Given the description of an element on the screen output the (x, y) to click on. 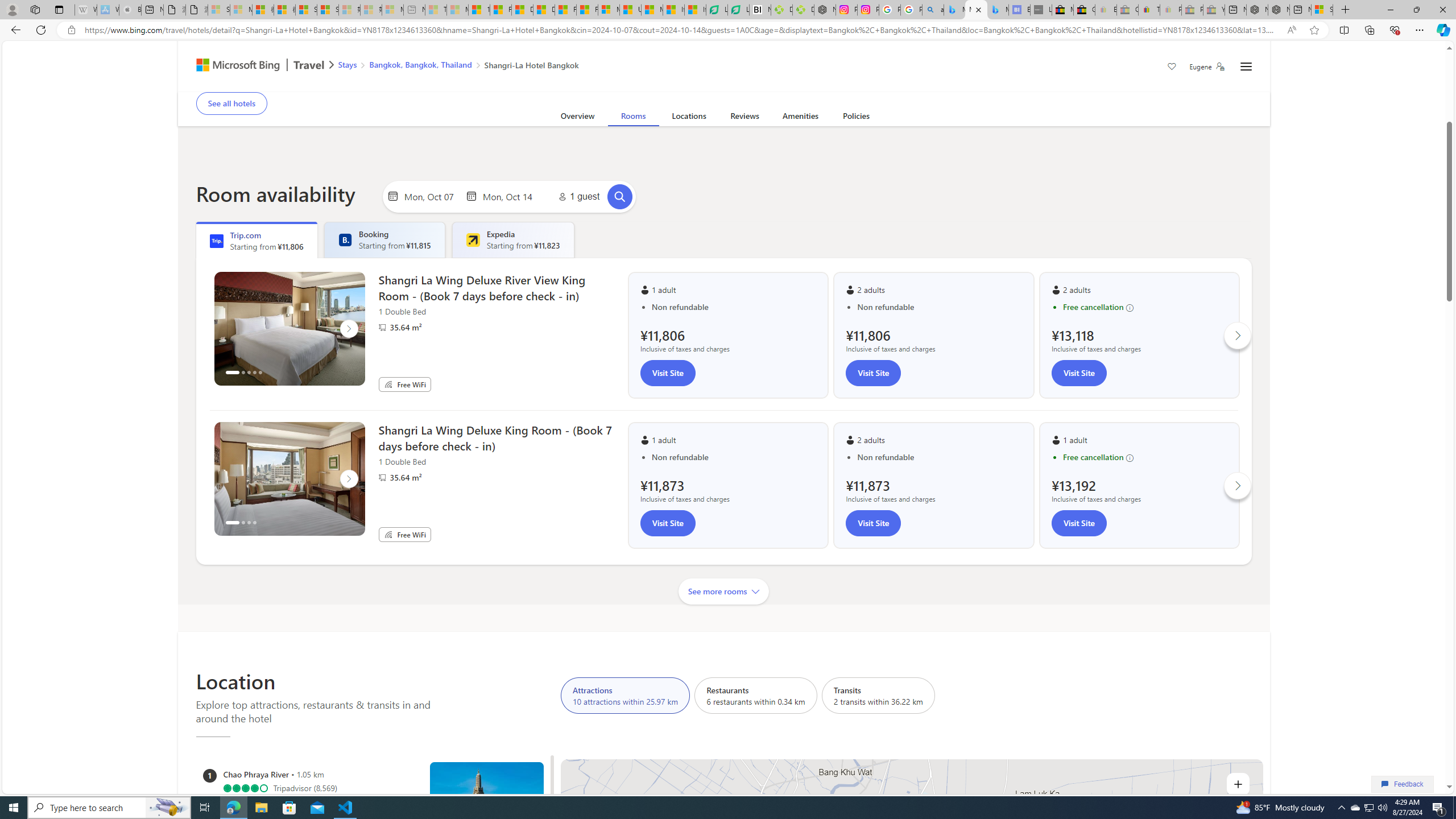
Descarga Driver Updater (802, 9)
Top Stories - MSN - Sleeping (435, 9)
Reviews (744, 118)
Class: trvl-hub-header stickyheader (723, 65)
Sign in to your Microsoft account - Sleeping (218, 9)
Partner Image (381, 477)
LendingTree - Compare Lenders (738, 9)
Click to scroll right (1238, 485)
+12 More Amenities (749, 91)
Bangkok, Bangkok, Thailand (420, 64)
